Given the description of an element on the screen output the (x, y) to click on. 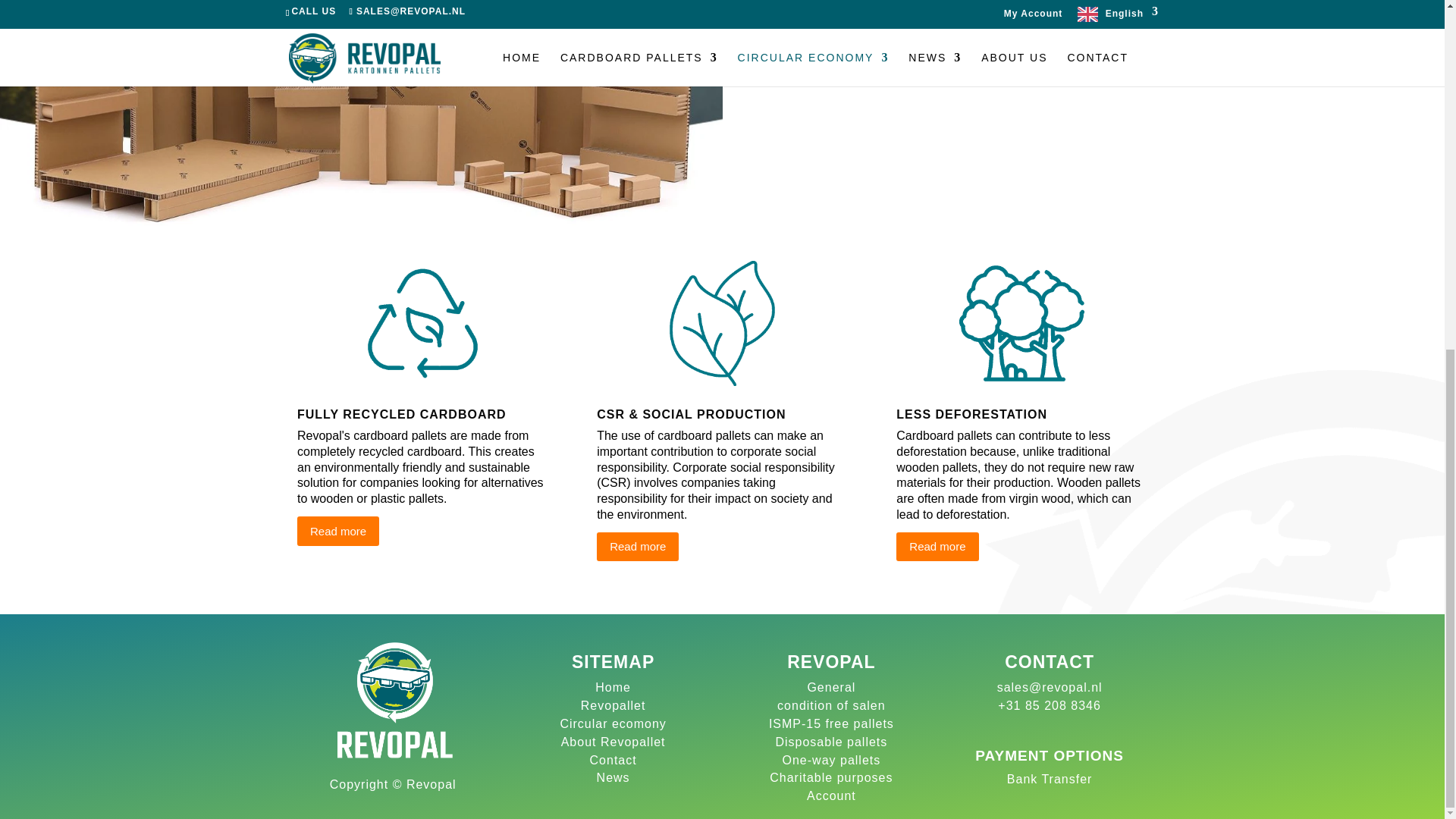
LESS DEFORESTATION (971, 413)
Read more (337, 531)
FULLY RECYCLED CARDBOARD (401, 413)
Read more (637, 546)
